Given the description of an element on the screen output the (x, y) to click on. 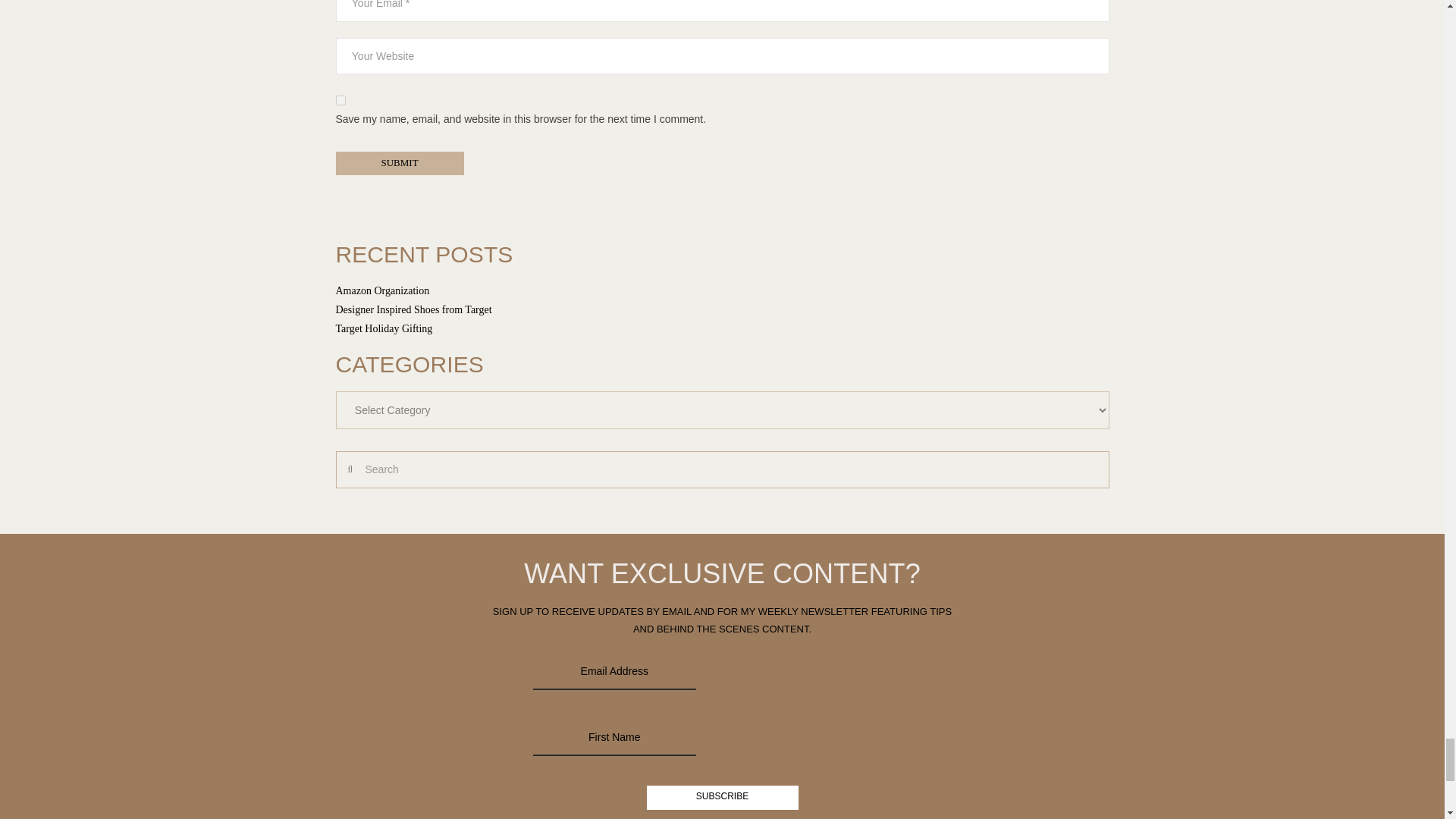
yes (339, 100)
Submit (398, 163)
